Given the description of an element on the screen output the (x, y) to click on. 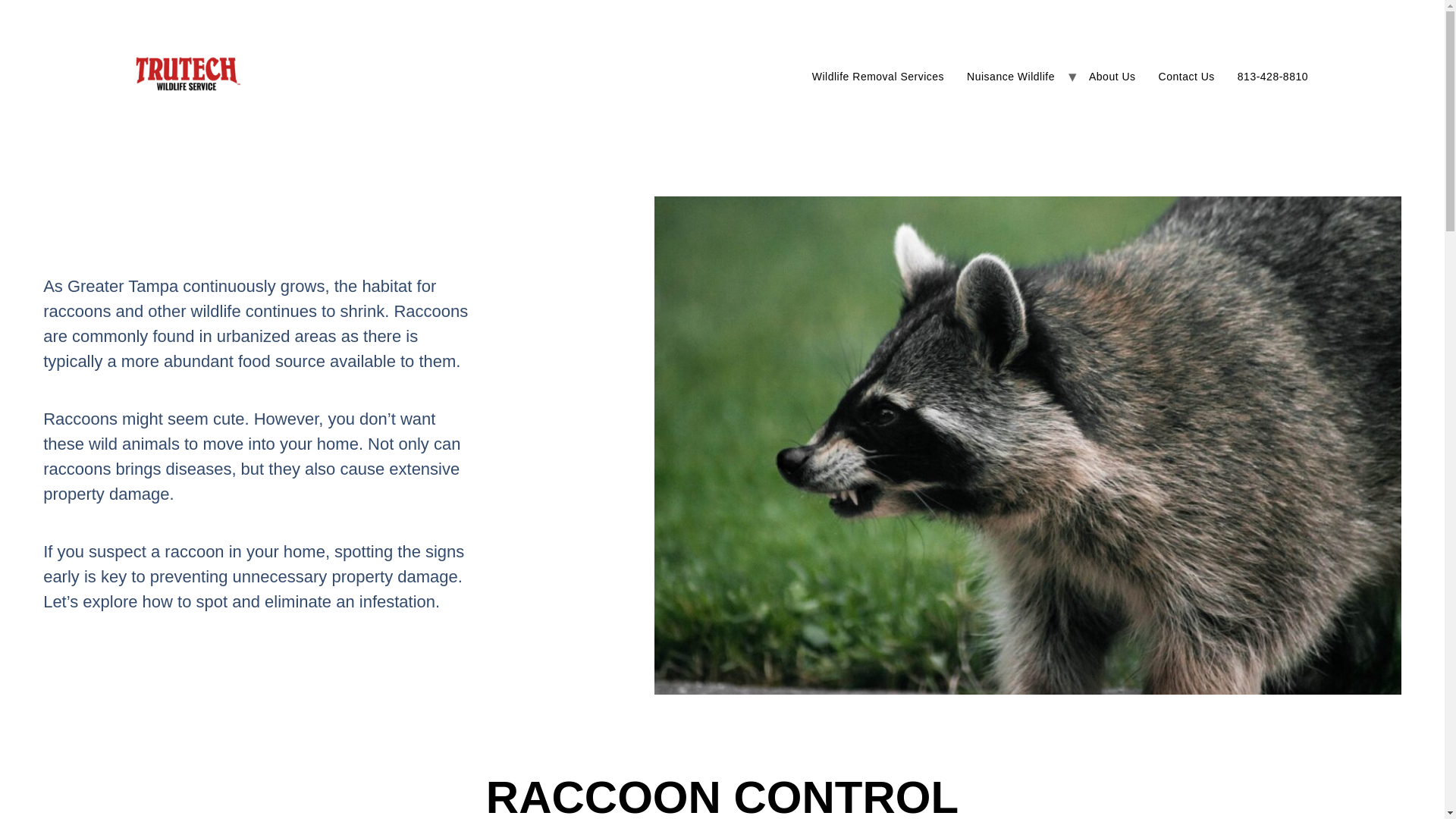
Contact Us (1186, 76)
Nuisance Wildlife (1010, 76)
About Us (1112, 76)
Wildlife Removal Services (877, 76)
813-428-8810 (1272, 76)
